Given the description of an element on the screen output the (x, y) to click on. 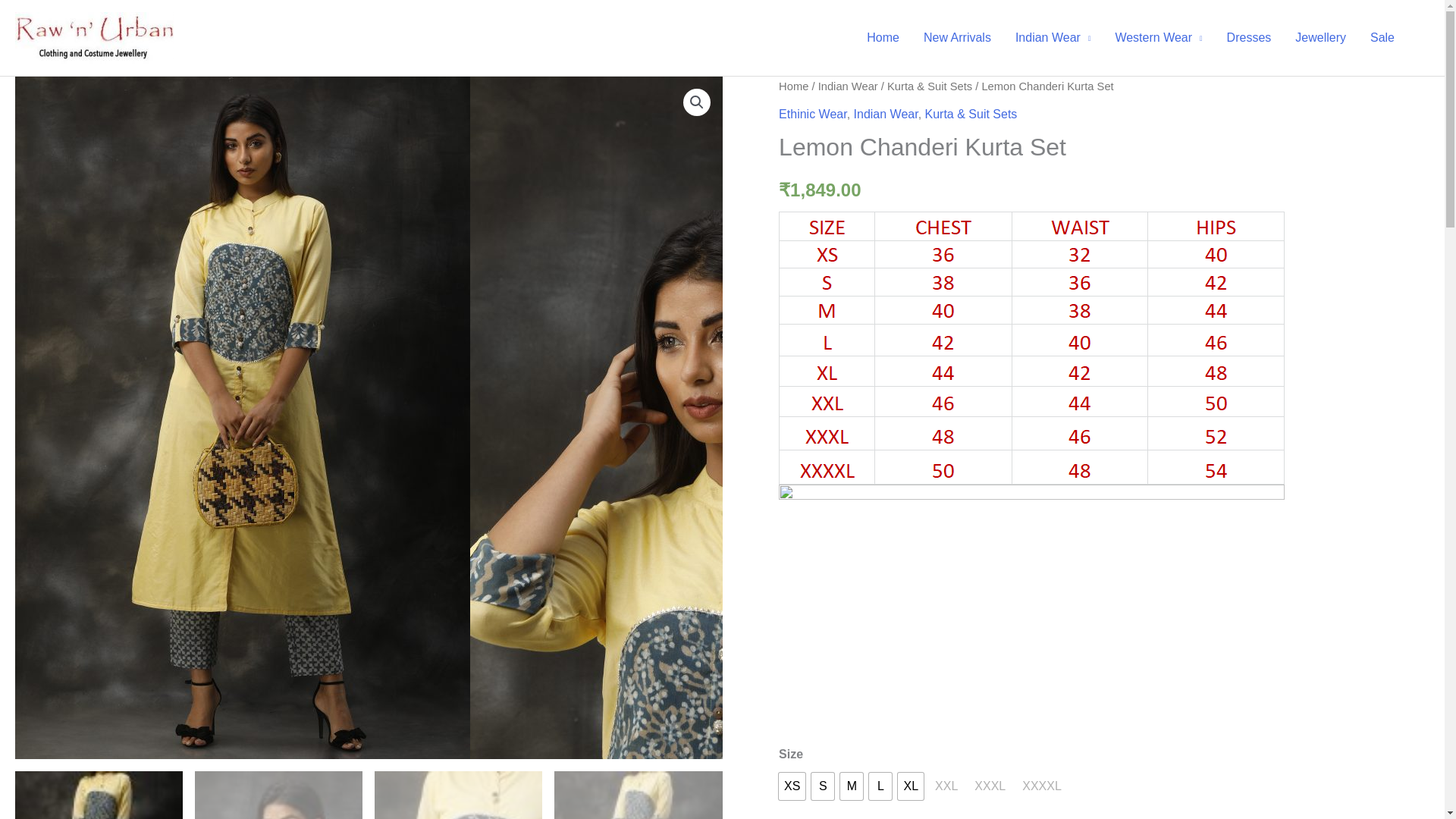
Home (882, 37)
XXL (946, 786)
Indian Wear (847, 86)
Dresses (1249, 37)
XS (791, 786)
Home (793, 86)
Jewellery (1320, 37)
Western Wear (1158, 37)
Indian Wear (1053, 37)
Sale (1382, 37)
XXXL (989, 786)
XL (910, 786)
XXXXL (1041, 786)
New Arrivals (957, 37)
